Given the description of an element on the screen output the (x, y) to click on. 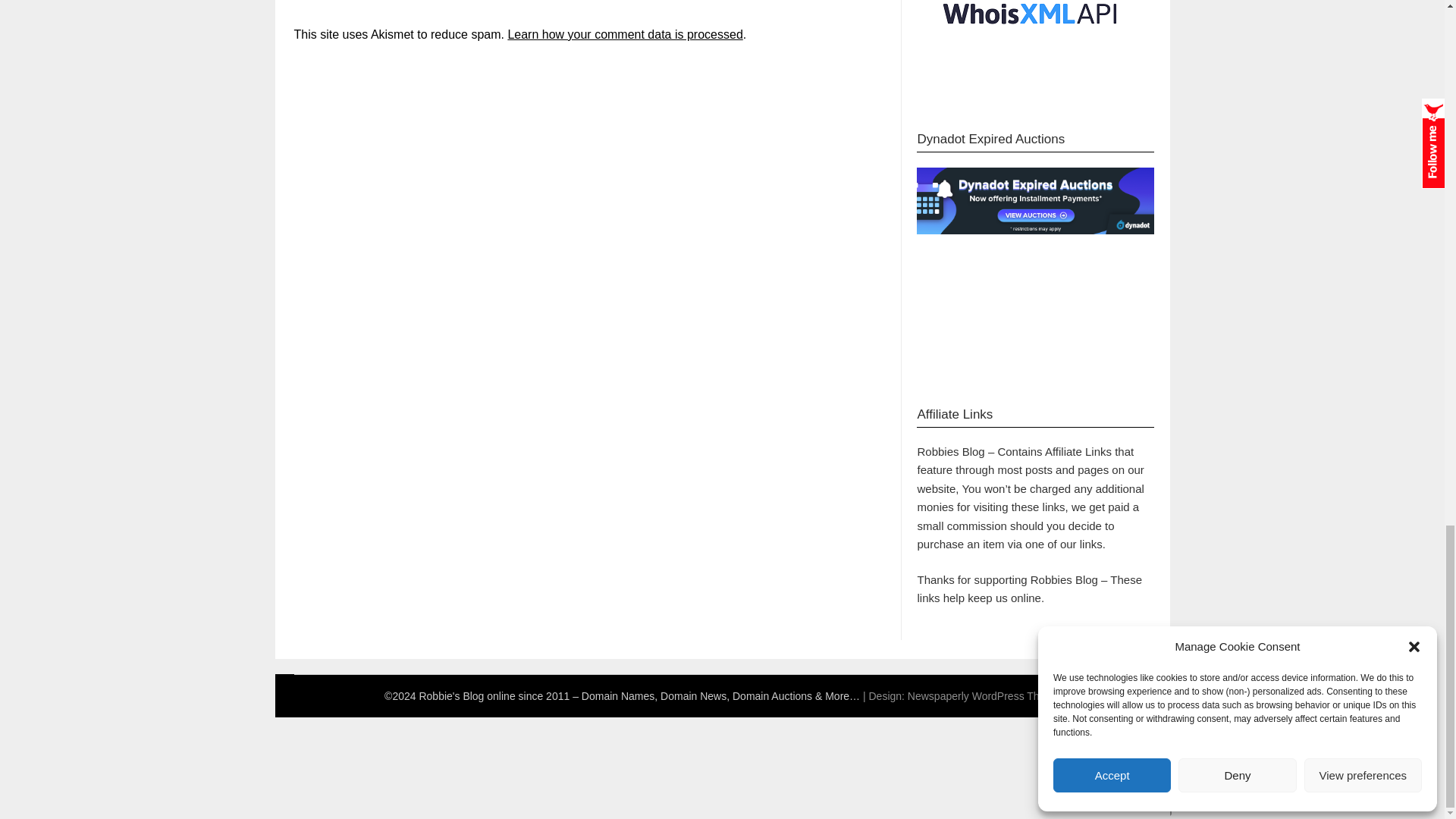
Learn how your comment data is processed (624, 33)
Comment Form (570, 9)
Visit our Sponsor (1030, 42)
